Given the description of an element on the screen output the (x, y) to click on. 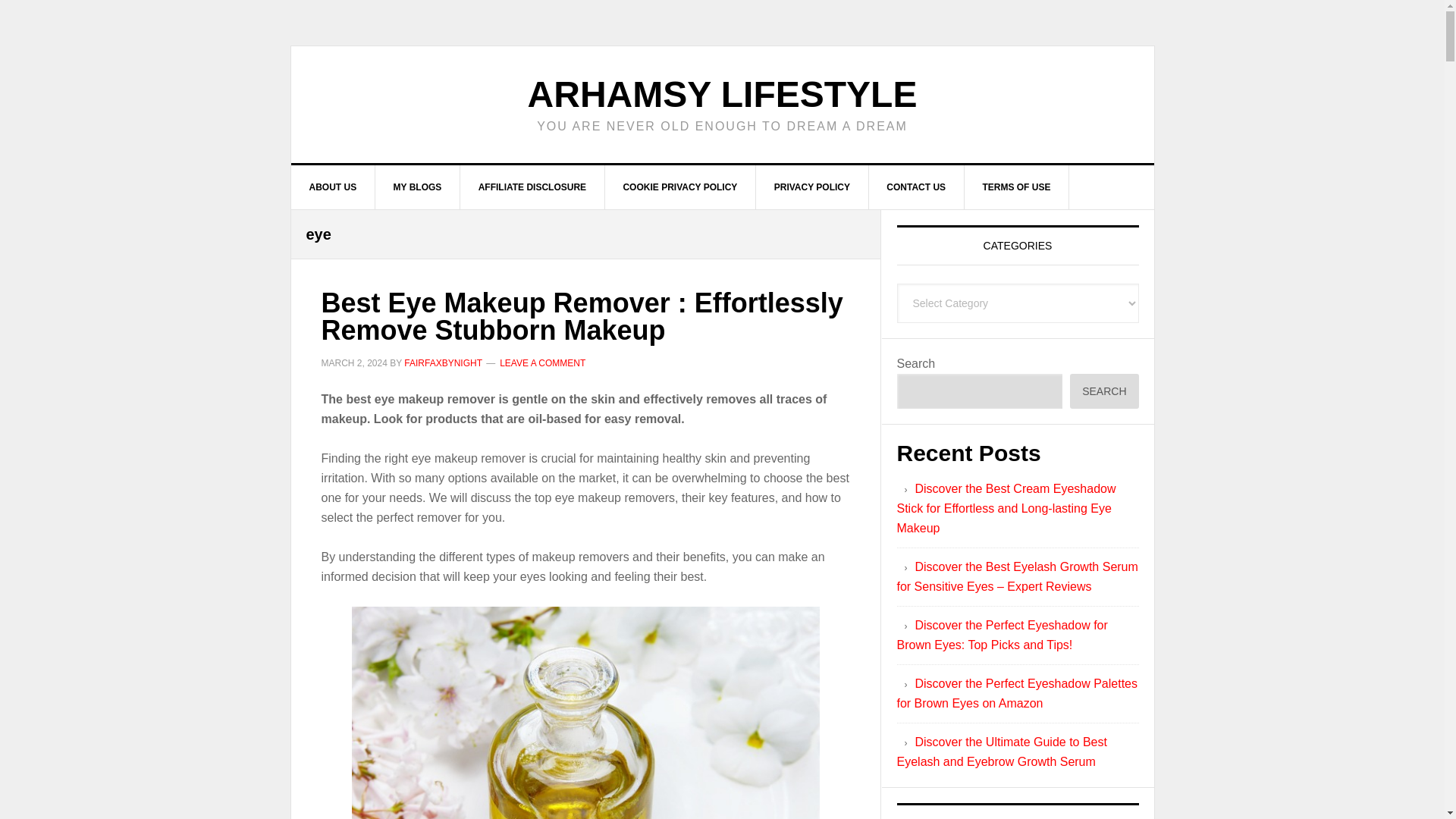
COOKIE PRIVACY POLICY (679, 187)
FAIRFAXBYNIGHT (442, 362)
SEARCH (1104, 390)
ARHAMSY LIFESTYLE (722, 94)
AFFILIATE DISCLOSURE (532, 187)
CONTACT US (915, 187)
LEAVE A COMMENT (542, 362)
MY BLOGS (418, 187)
ABOUT US (333, 187)
PRIVACY POLICY (812, 187)
